Given the description of an element on the screen output the (x, y) to click on. 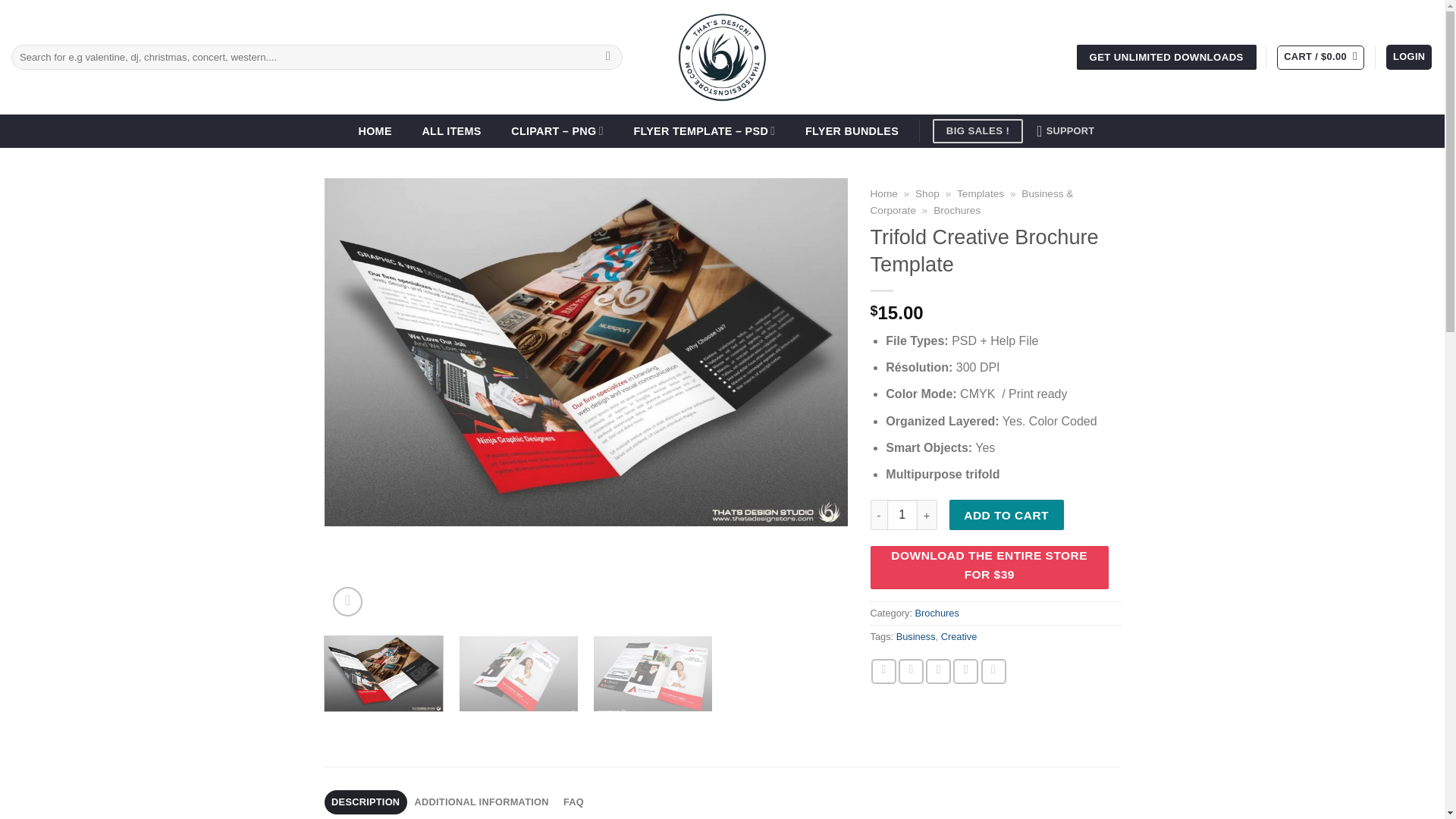
Email to a Friend (938, 671)
LOGIN (1408, 57)
Pin on Pinterest (965, 671)
Share on Facebook (883, 671)
Zoom (347, 601)
Share on Twitter (910, 671)
Share on LinkedIn (993, 671)
Cart (1320, 57)
HOME (375, 130)
Search (608, 57)
1 (901, 514)
GET UNLIMITED DOWNLOADS (1166, 57)
Login (1408, 57)
ALL ITEMS (451, 130)
